Given the description of an element on the screen output the (x, y) to click on. 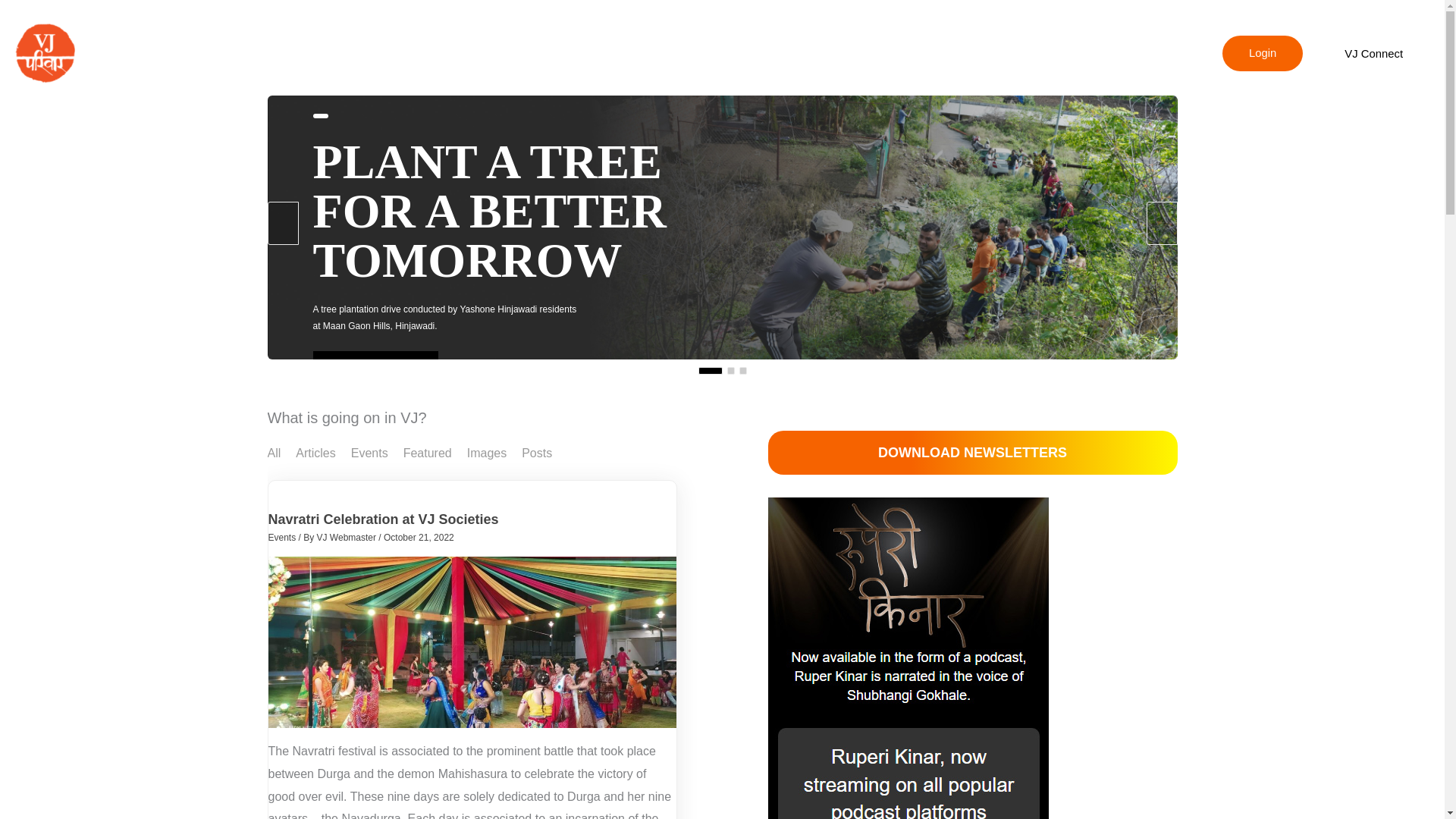
Read More (375, 369)
All (273, 452)
Login (1263, 54)
VJ Connect (1373, 53)
Articles (314, 452)
1 (709, 370)
Images (486, 452)
Events (282, 537)
3 (741, 370)
VJ Webmaster (347, 537)
Navratri Celebration at VJ Societies (383, 519)
Featured (427, 452)
View all posts by VJ Webmaster (347, 537)
2 (729, 370)
Events (369, 452)
